Given the description of an element on the screen output the (x, y) to click on. 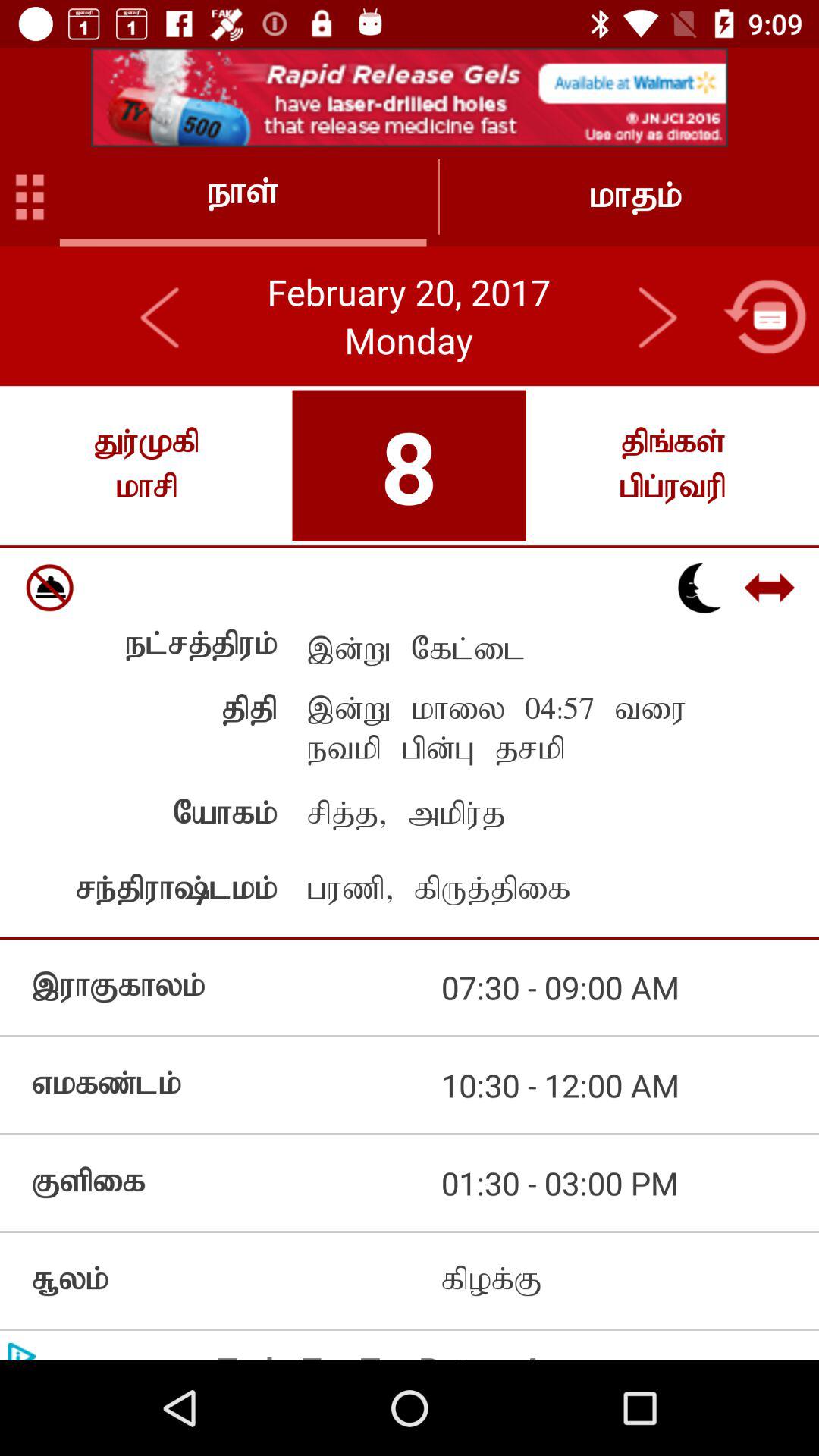
go back to a previous date (160, 316)
